Given the description of an element on the screen output the (x, y) to click on. 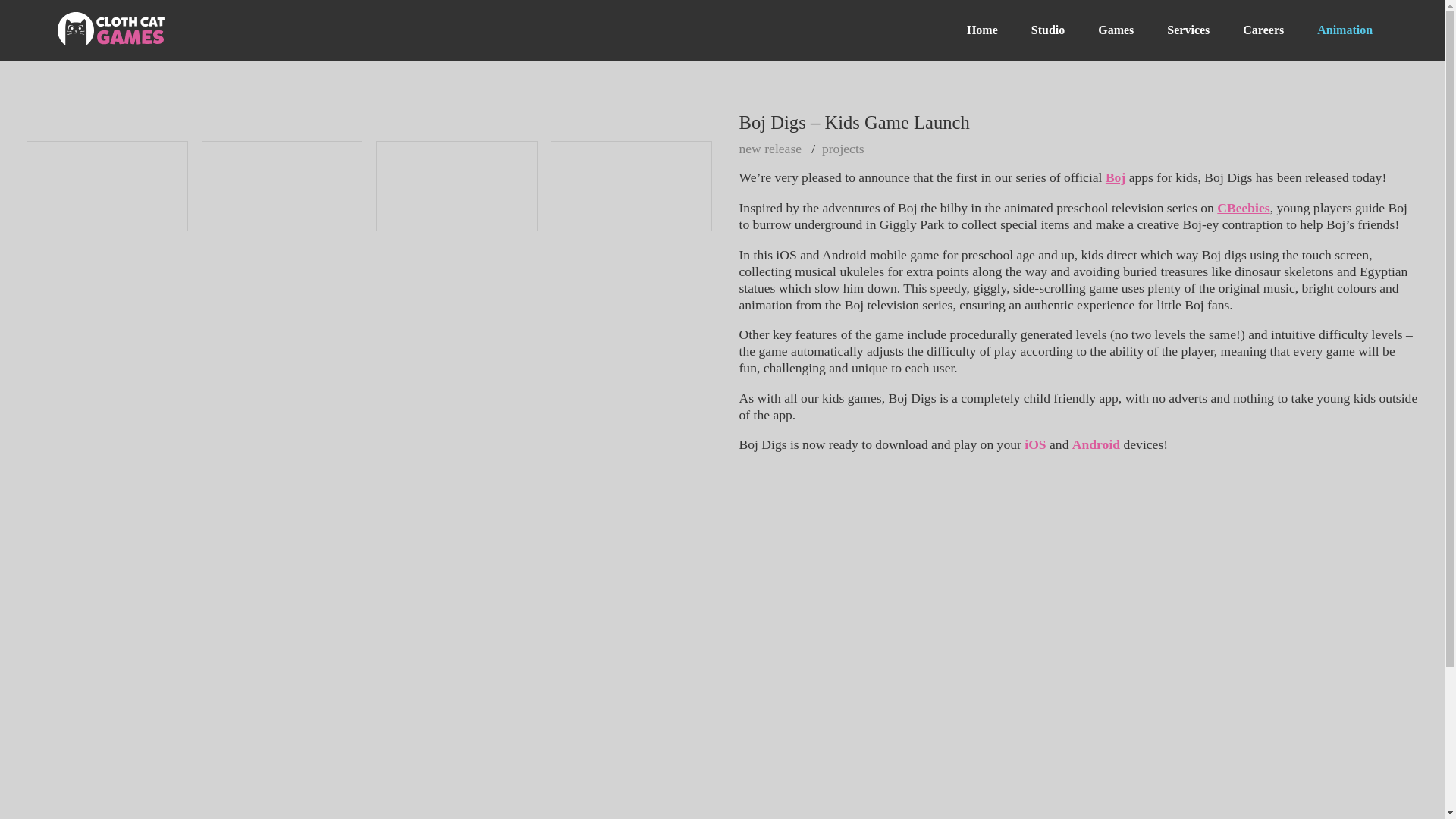
Animation (1344, 30)
Games (1115, 30)
Boj (1115, 177)
CBeebies (1243, 207)
Studio (1048, 30)
new release (773, 148)
Android (1095, 444)
Home (982, 30)
Services (1187, 30)
projects (846, 148)
